Given the description of an element on the screen output the (x, y) to click on. 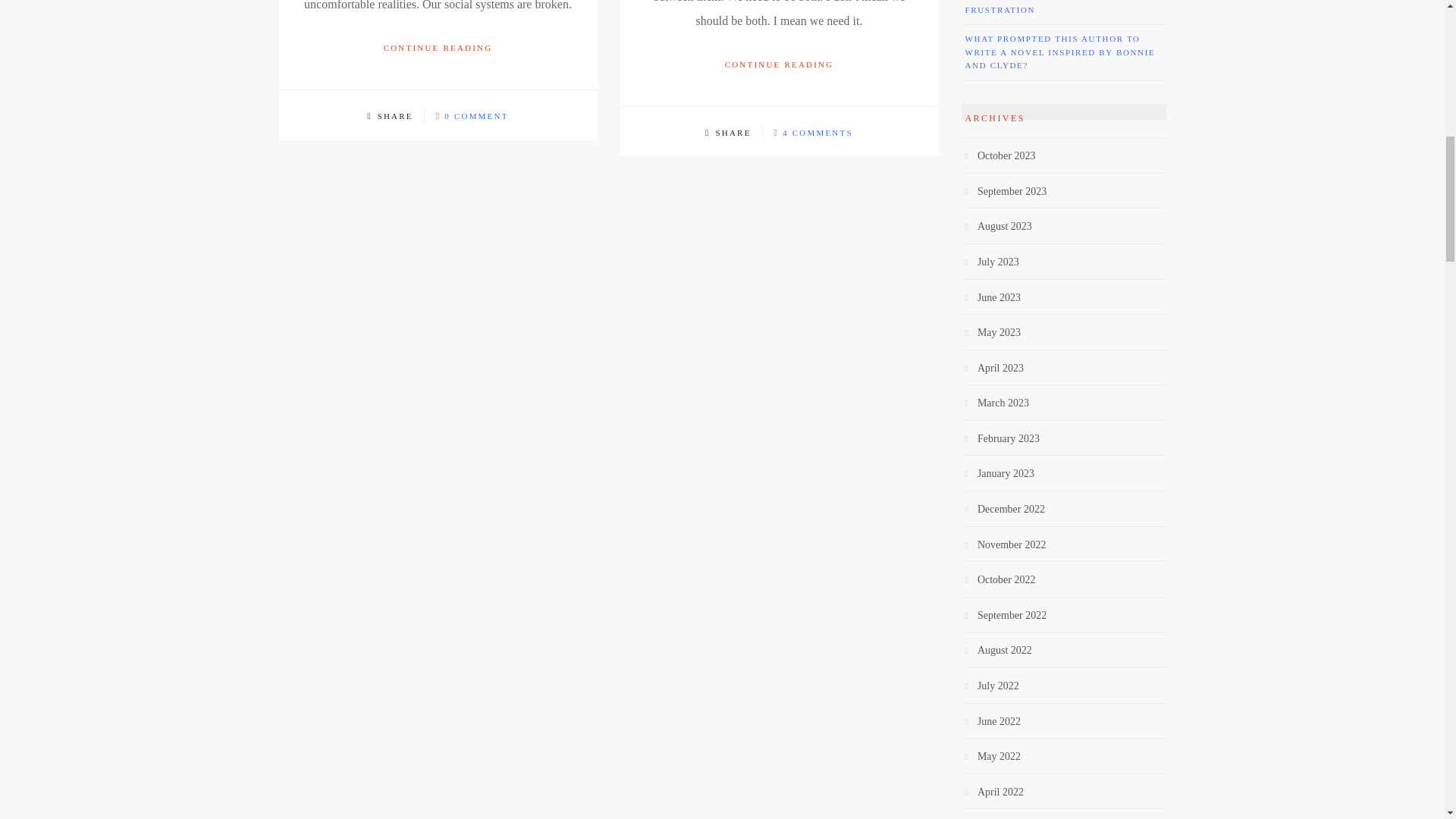
CONTINUE READING (779, 64)
CONTINUE READING (438, 47)
0 COMMENT (476, 115)
